Given the description of an element on the screen output the (x, y) to click on. 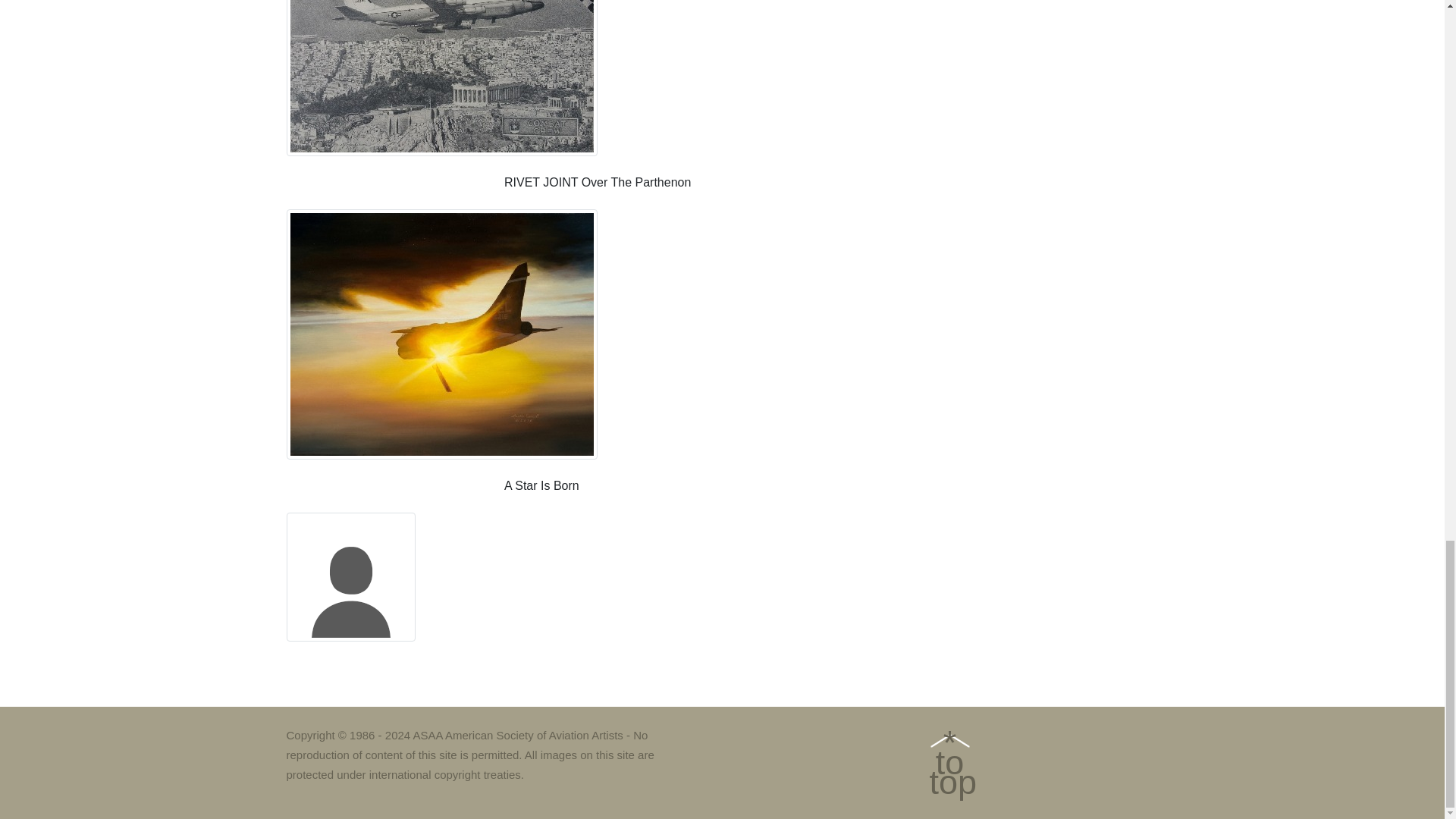
Artist's Work 2 (441, 78)
Artist's Work 10 (350, 576)
Artist's Work 3 (441, 334)
